Given the description of an element on the screen output the (x, y) to click on. 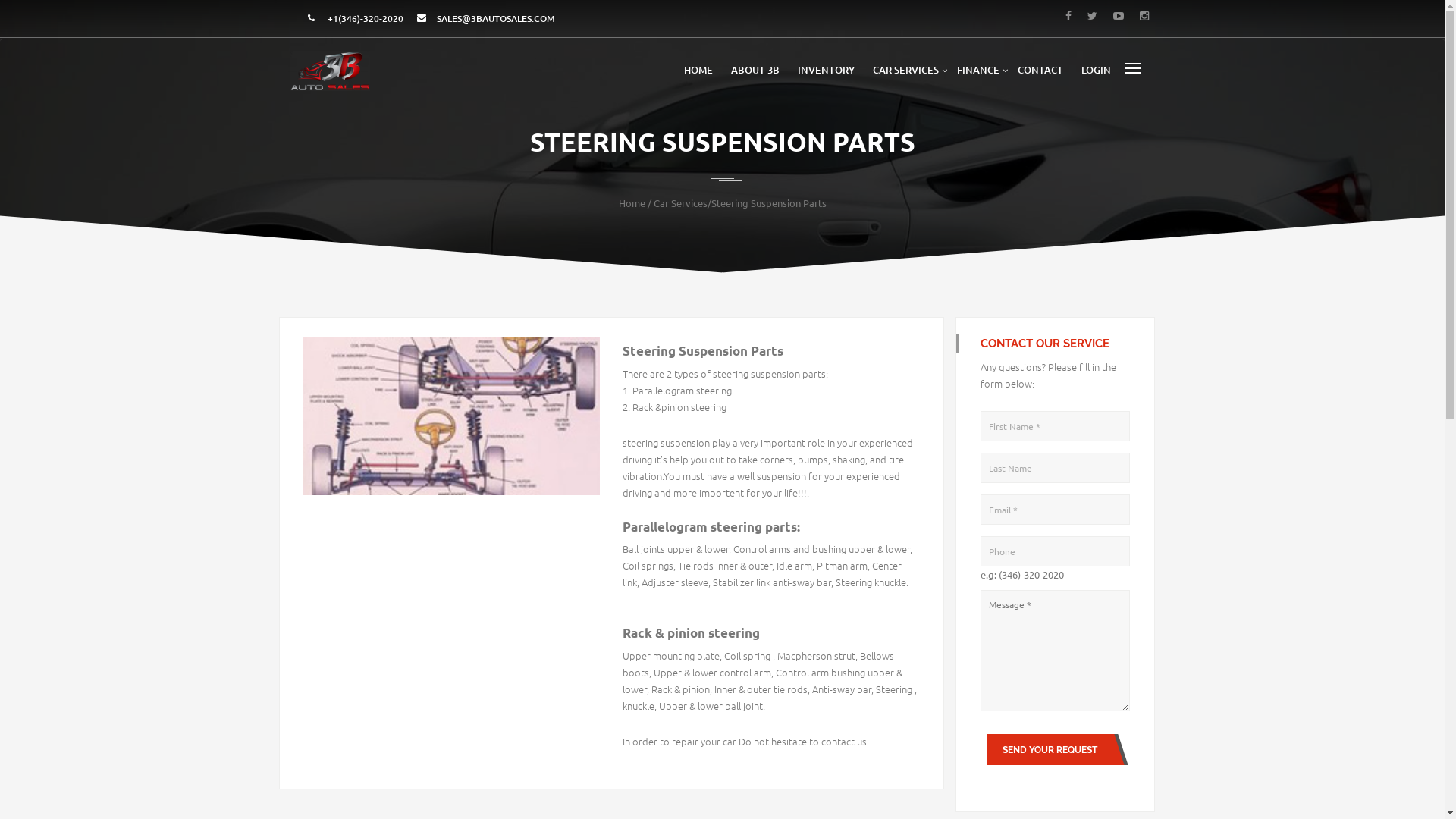
ABOUT 3B Element type: text (755, 69)
SALES@3BAUTOSALES.COM Element type: text (495, 18)
Home Element type: text (631, 202)
LOGIN Element type: text (1095, 69)
FINANCE Element type: text (978, 69)
INVENTORY Element type: text (825, 69)
HOME Element type: text (698, 69)
SEND YOUR REQUEST Element type: text (1044, 749)
CONTACT Element type: text (1040, 69)
CAR SERVICES Element type: text (905, 69)
